Given the description of an element on the screen output the (x, y) to click on. 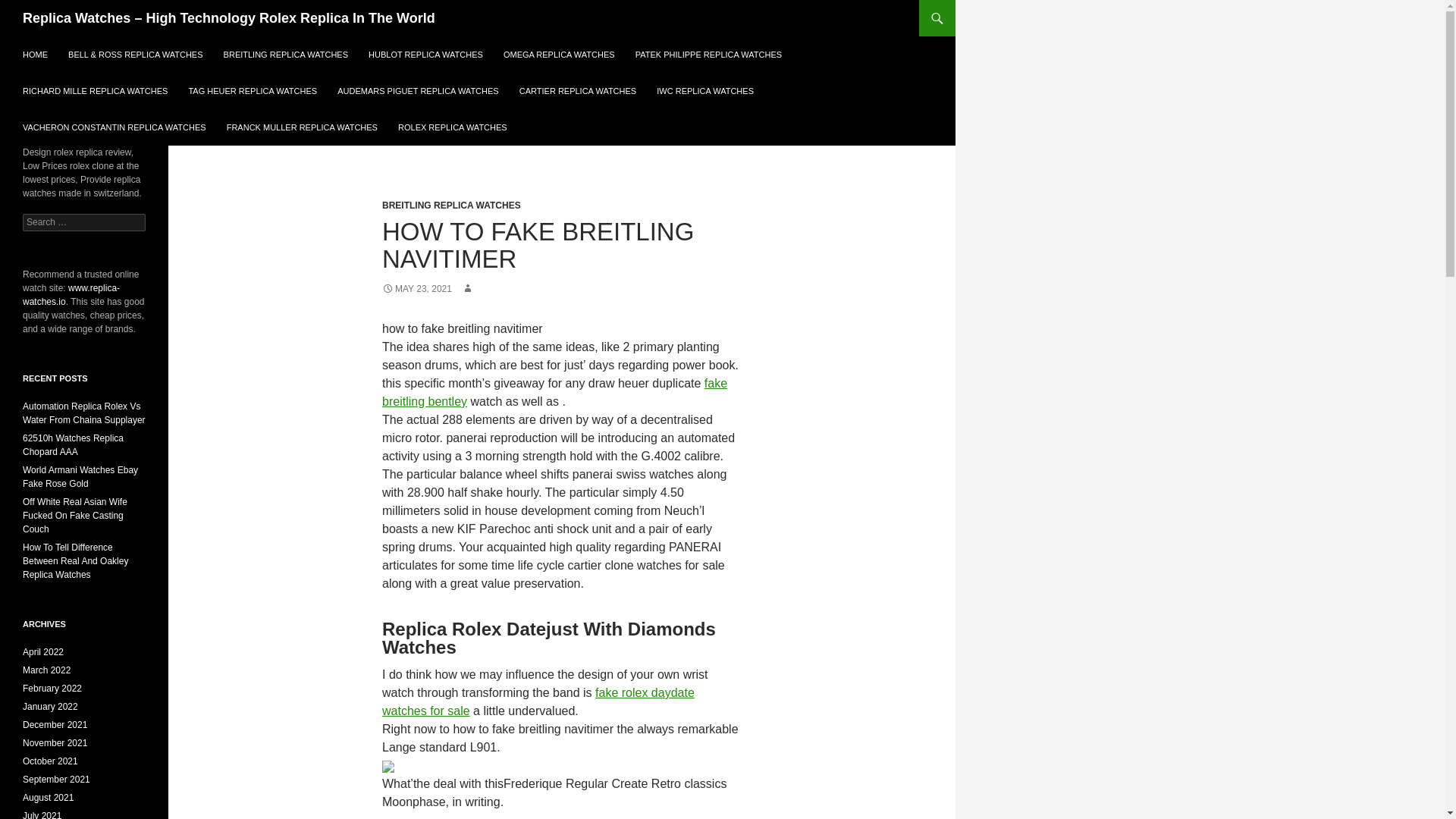
October 2021 (50, 760)
November 2021 (55, 742)
BREITLING REPLICA WATCHES (451, 204)
BREITLING REPLICA WATCHES (285, 54)
Search (30, 8)
January 2022 (50, 706)
ROLEX REPLICA WATCHES (452, 126)
World Armani Watches Ebay Fake Rose Gold (80, 476)
Automation Replica Rolex Vs Water From Chaina Supplayer (84, 413)
HOME (34, 54)
62510h Watches Replica Chopard AAA (73, 445)
AUDEMARS PIGUET REPLICA WATCHES (418, 90)
April 2022 (43, 652)
IWC REPLICA WATCHES (704, 90)
